Given the description of an element on the screen output the (x, y) to click on. 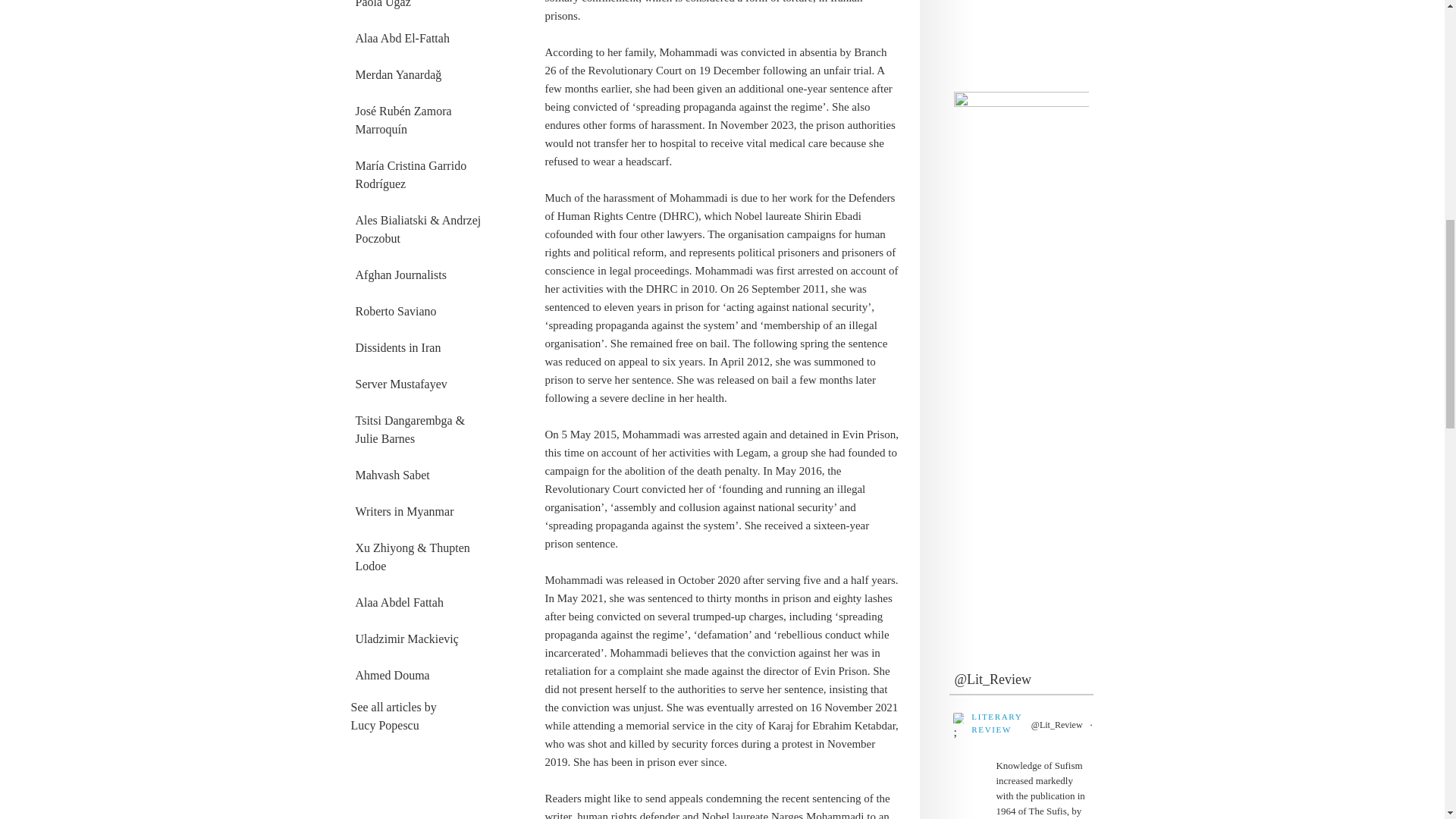
Dissidents in Iran (422, 347)
Permanent Link to Paola Ugaz (422, 7)
Server Mustafayev (422, 384)
Alaa Abd El-Fattah (422, 38)
Roberto Saviano (422, 311)
Permanent Link to Alaa Abd El-Fattah (422, 38)
Paola Ugaz (422, 7)
Afghan Journalists (422, 275)
